Given the description of an element on the screen output the (x, y) to click on. 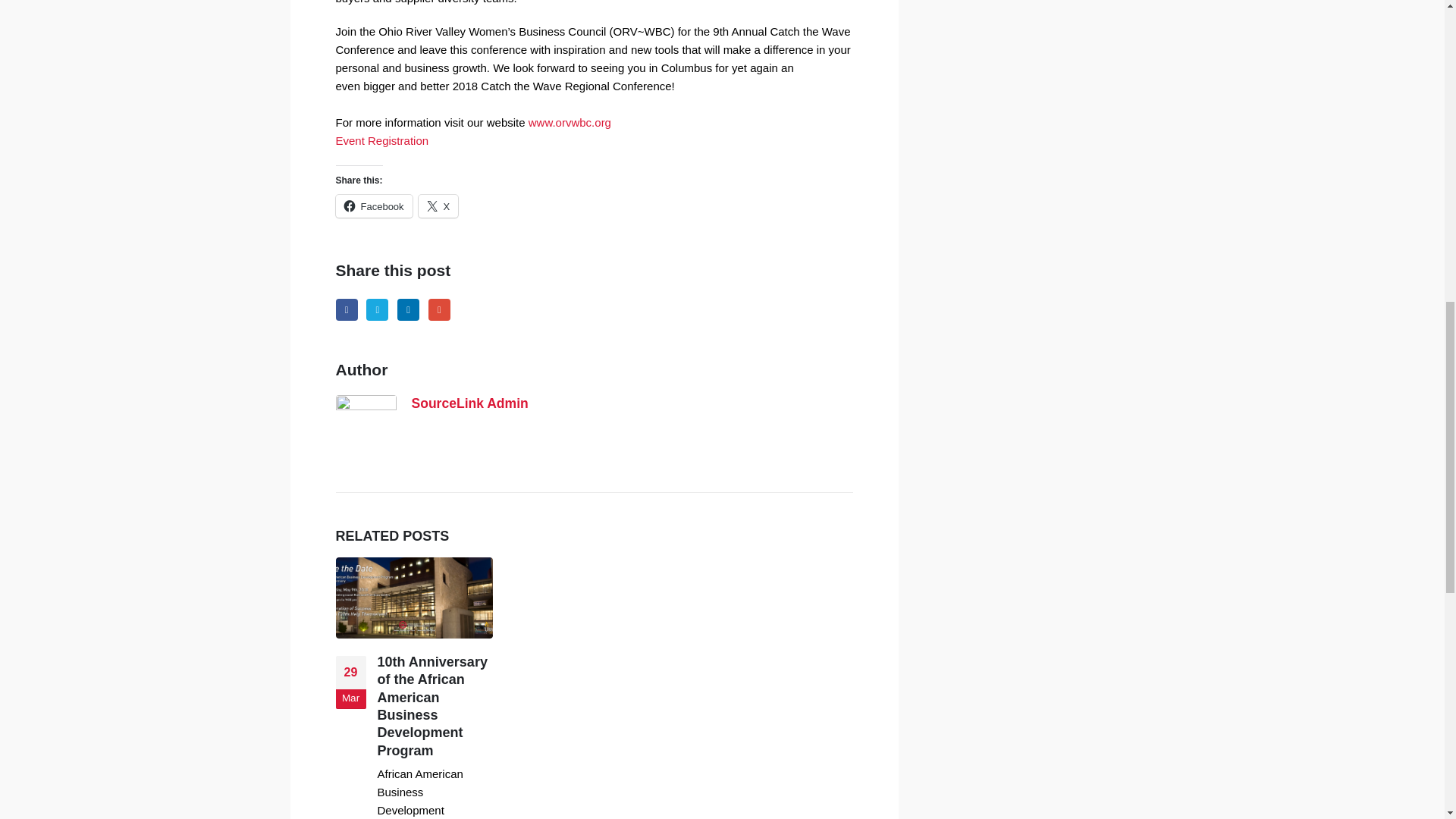
Event Registration (381, 140)
Facebook (345, 309)
Facebook (373, 205)
Click to share on Facebook (373, 205)
www.orvwbc.org (569, 122)
Facebook (345, 309)
Click to share on X (438, 205)
X (438, 205)
